Given the description of an element on the screen output the (x, y) to click on. 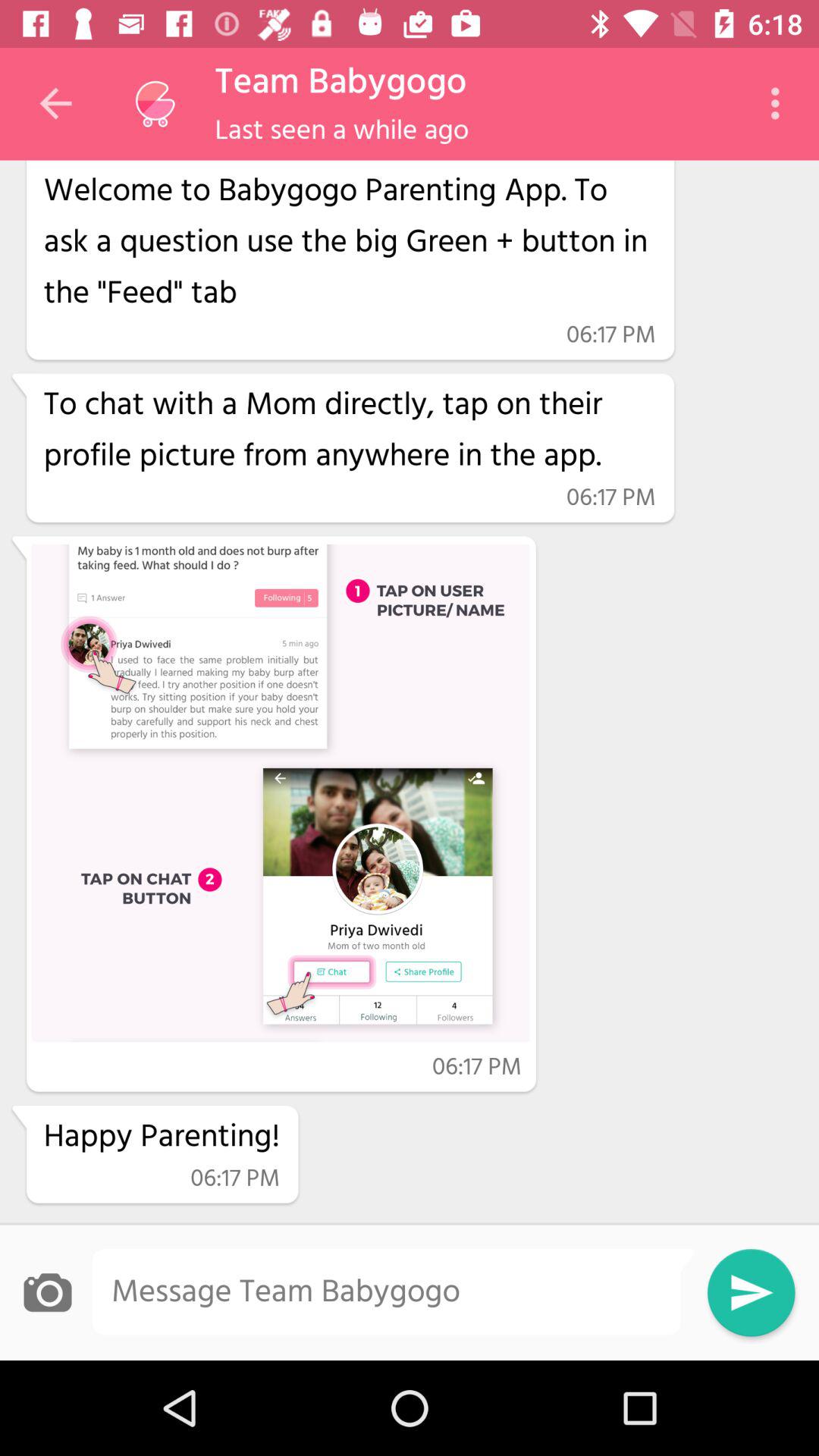
turn off the item above the 06:17 pm icon (349, 238)
